Given the description of an element on the screen output the (x, y) to click on. 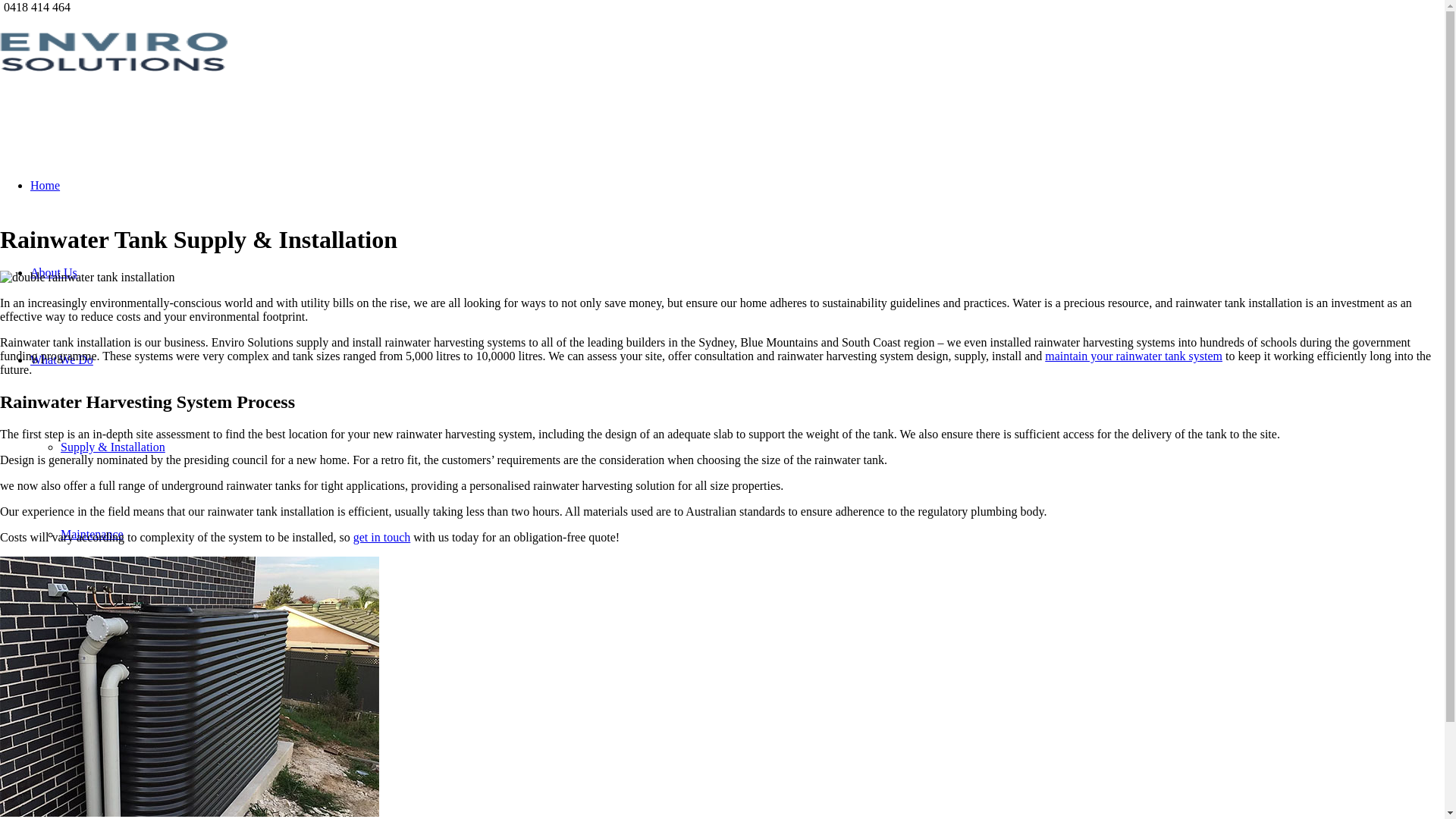
About Us Element type: text (53, 272)
supply Element type: hover (189, 686)
logo Element type: hover (113, 52)
What We Do Element type: text (61, 359)
Get In Touch Element type: text (62, 708)
Menu Menu Element type: text (60, 795)
maintenance Element type: hover (87, 277)
logo Element type: hover (113, 85)
Supply & Installation Element type: text (112, 446)
Gallery Element type: text (48, 621)
Home Element type: text (44, 184)
maintain your rainwater tank system Element type: text (1133, 355)
Maintenance Element type: text (91, 533)
get in touch Element type: text (382, 536)
